Given the description of an element on the screen output the (x, y) to click on. 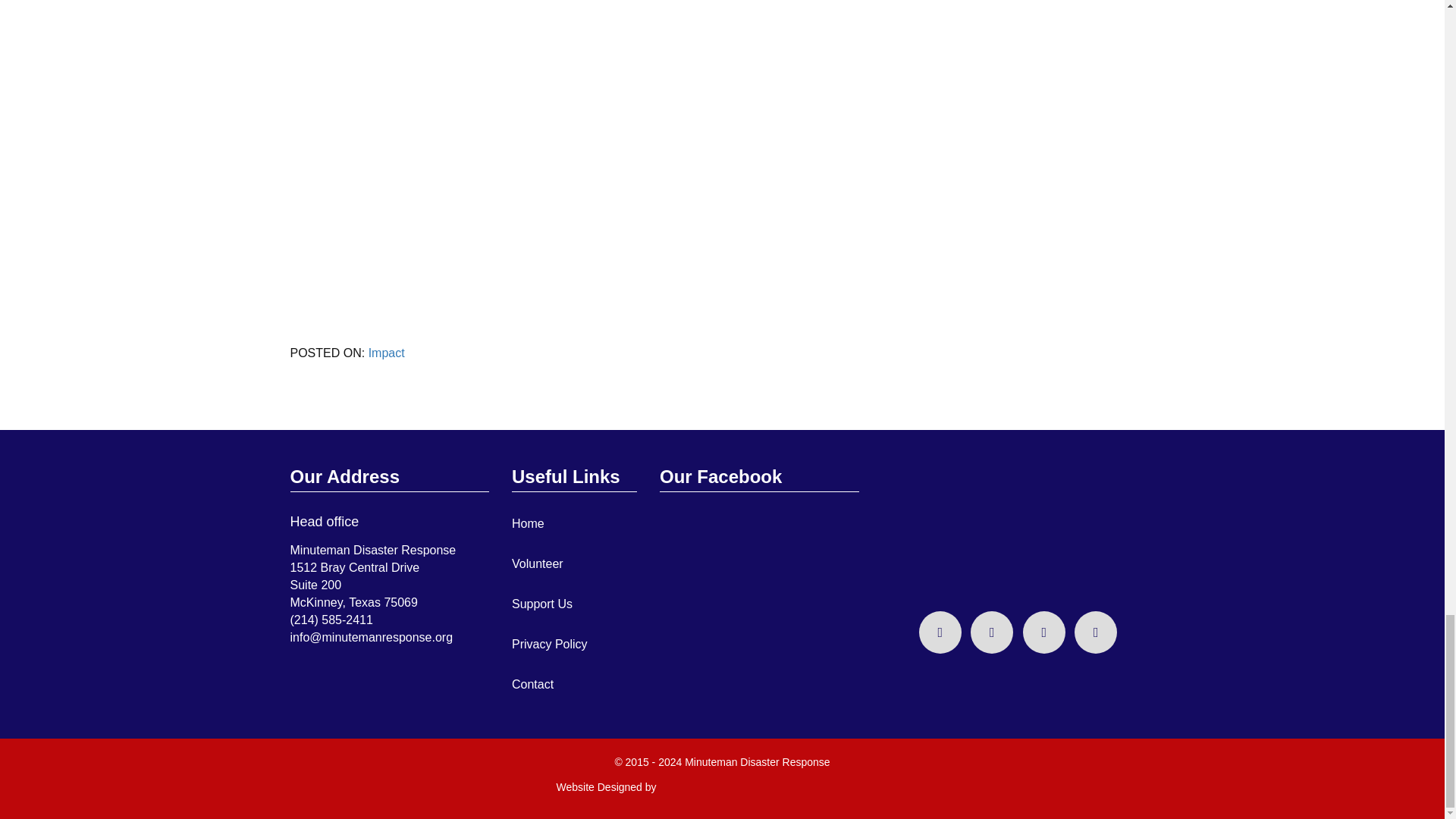
Impact (386, 352)
